Given the description of an element on the screen output the (x, y) to click on. 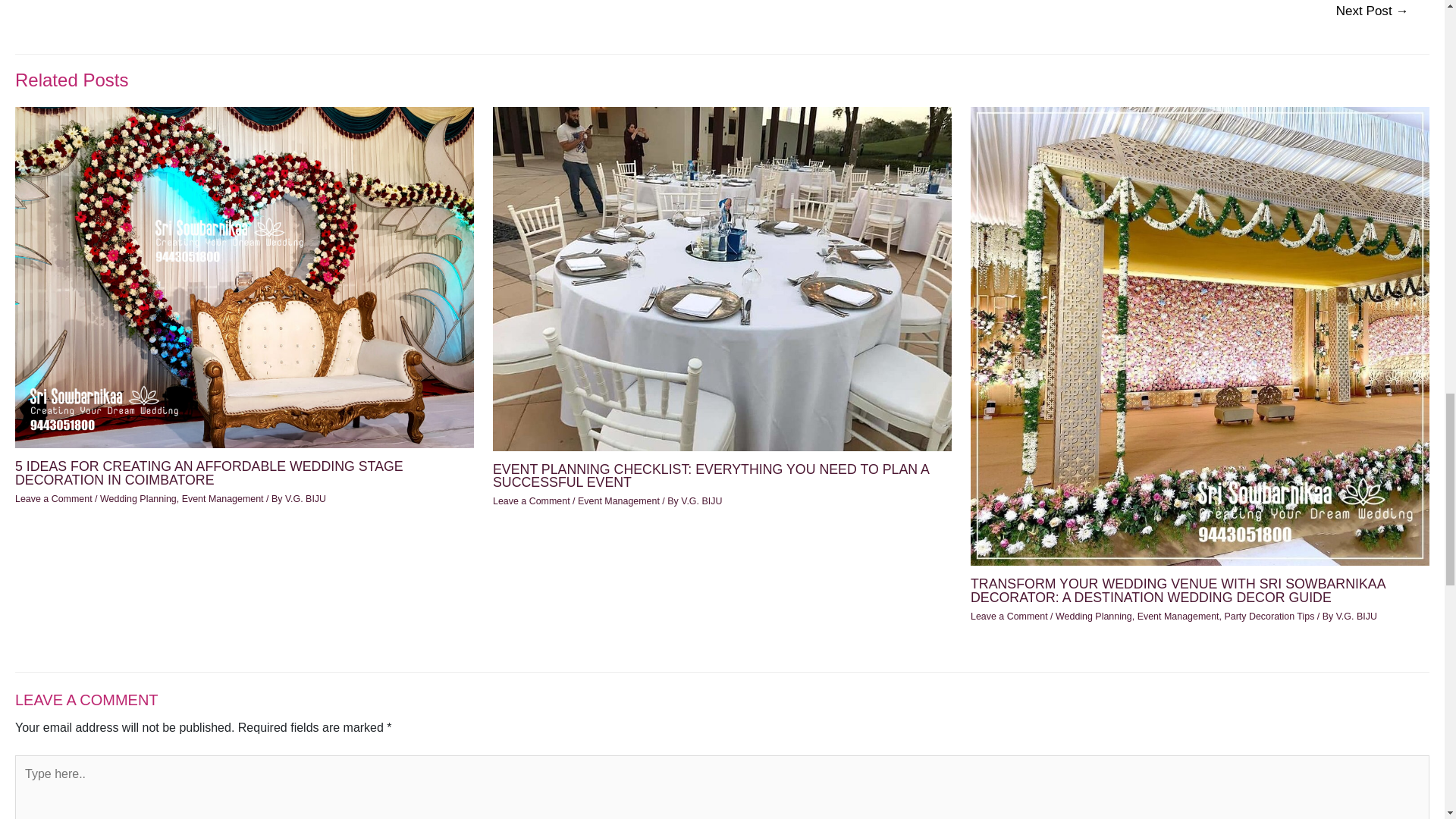
View all posts by V.G. BIJU (1356, 616)
View all posts by V.G. BIJU (305, 499)
View all posts by V.G. BIJU (701, 500)
